Given the description of an element on the screen output the (x, y) to click on. 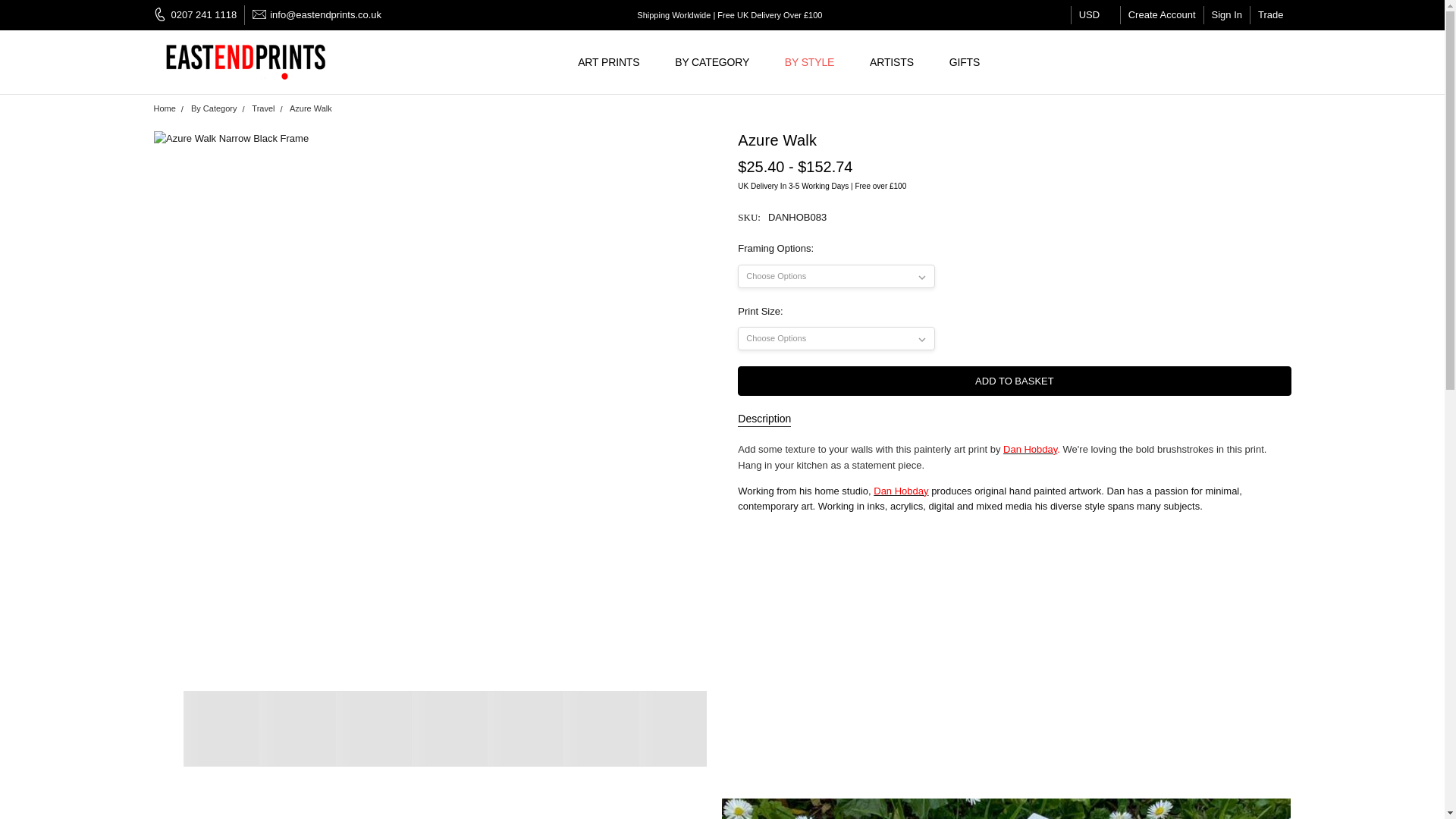
Azure Walk Narrow Oak Frame (448, 728)
0207 241 1118 (198, 14)
Azure Walk Medium Black Frame (296, 728)
Azure Walk Wide Oak Frame (600, 728)
Trade (1270, 15)
Add to Basket (1014, 380)
East End Prints Ltd (247, 62)
ART PRINTS (614, 62)
Azure Walk Narrow White Frame (676, 728)
